Given the description of an element on the screen output the (x, y) to click on. 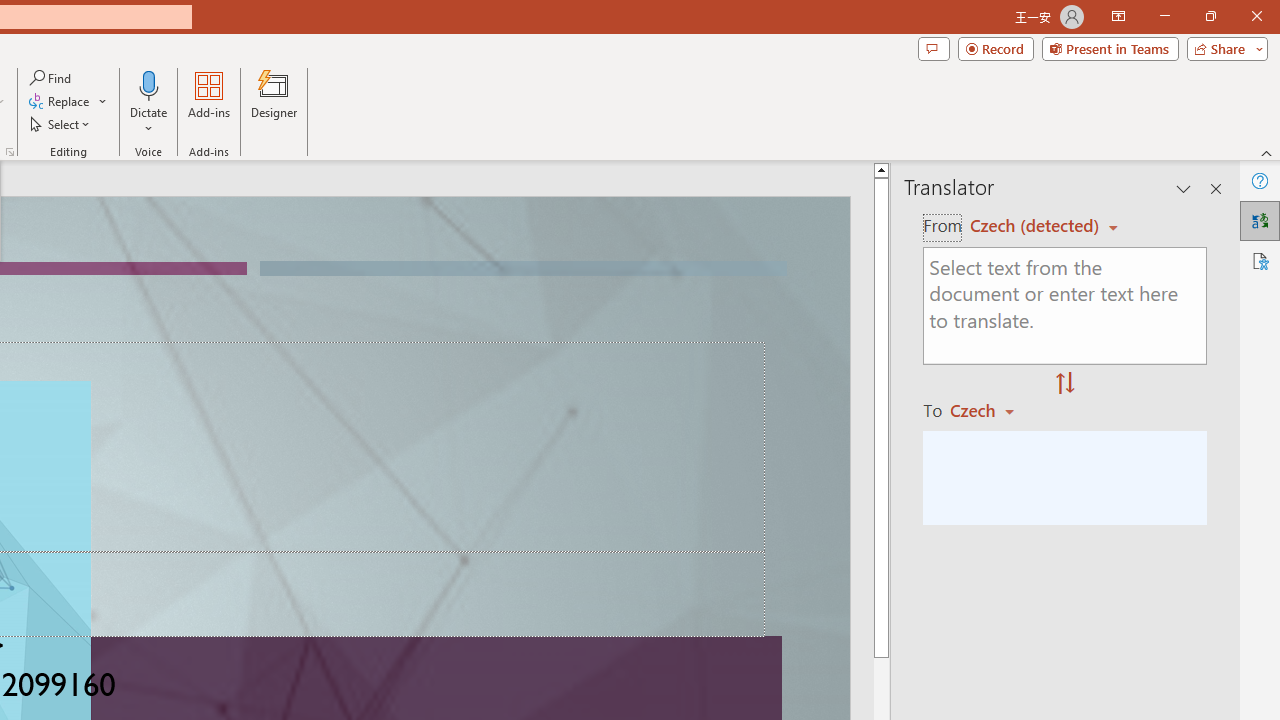
Czech (991, 409)
Select (61, 124)
